Given the description of an element on the screen output the (x, y) to click on. 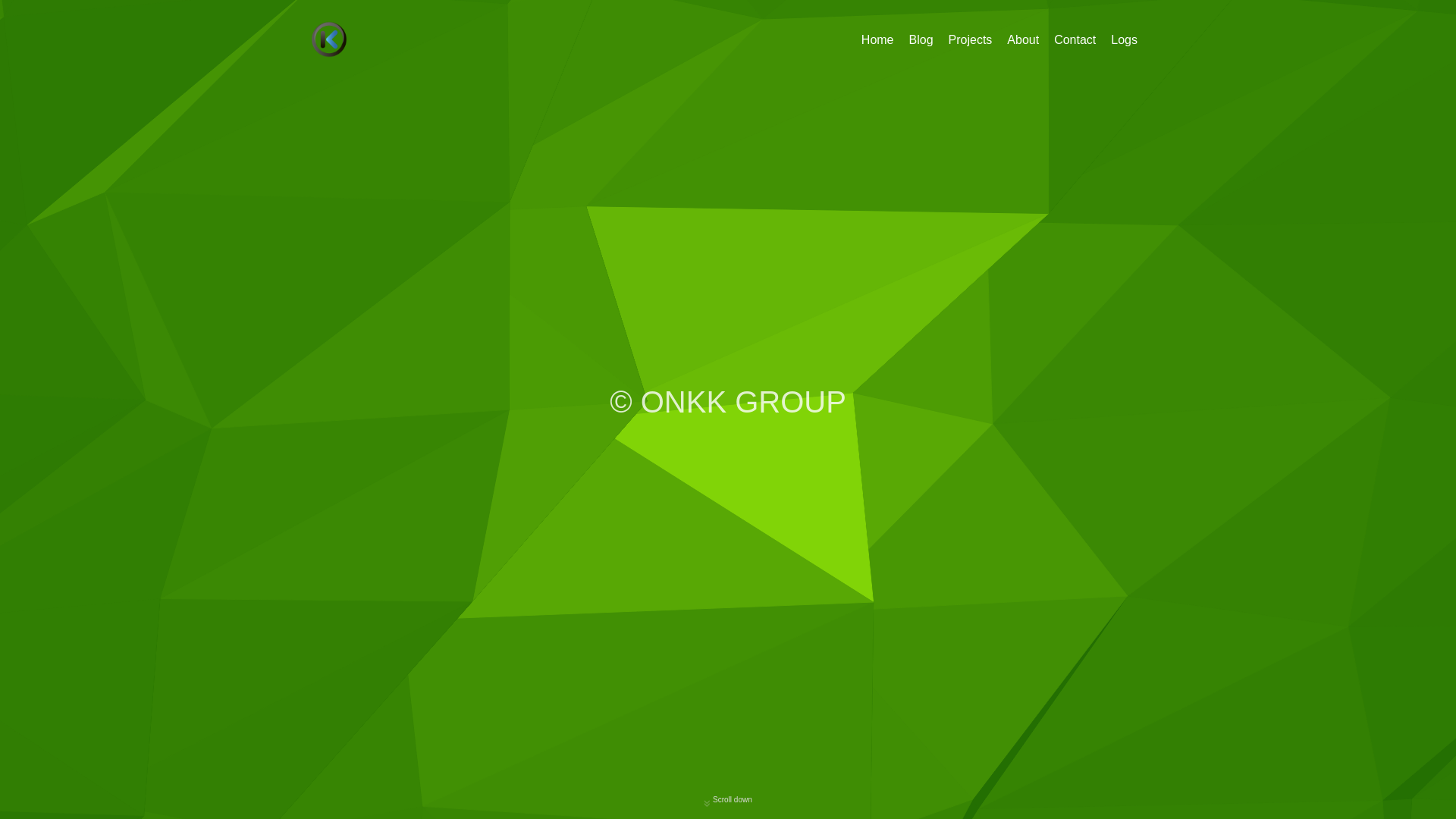
Logs Element type: text (1123, 39)
Scroll down Element type: text (727, 799)
Contact Element type: text (1074, 39)
About Element type: text (1022, 39)
Home Element type: text (877, 39)
Projects Element type: text (970, 39)
Blog Element type: text (921, 39)
